Given the description of an element on the screen output the (x, y) to click on. 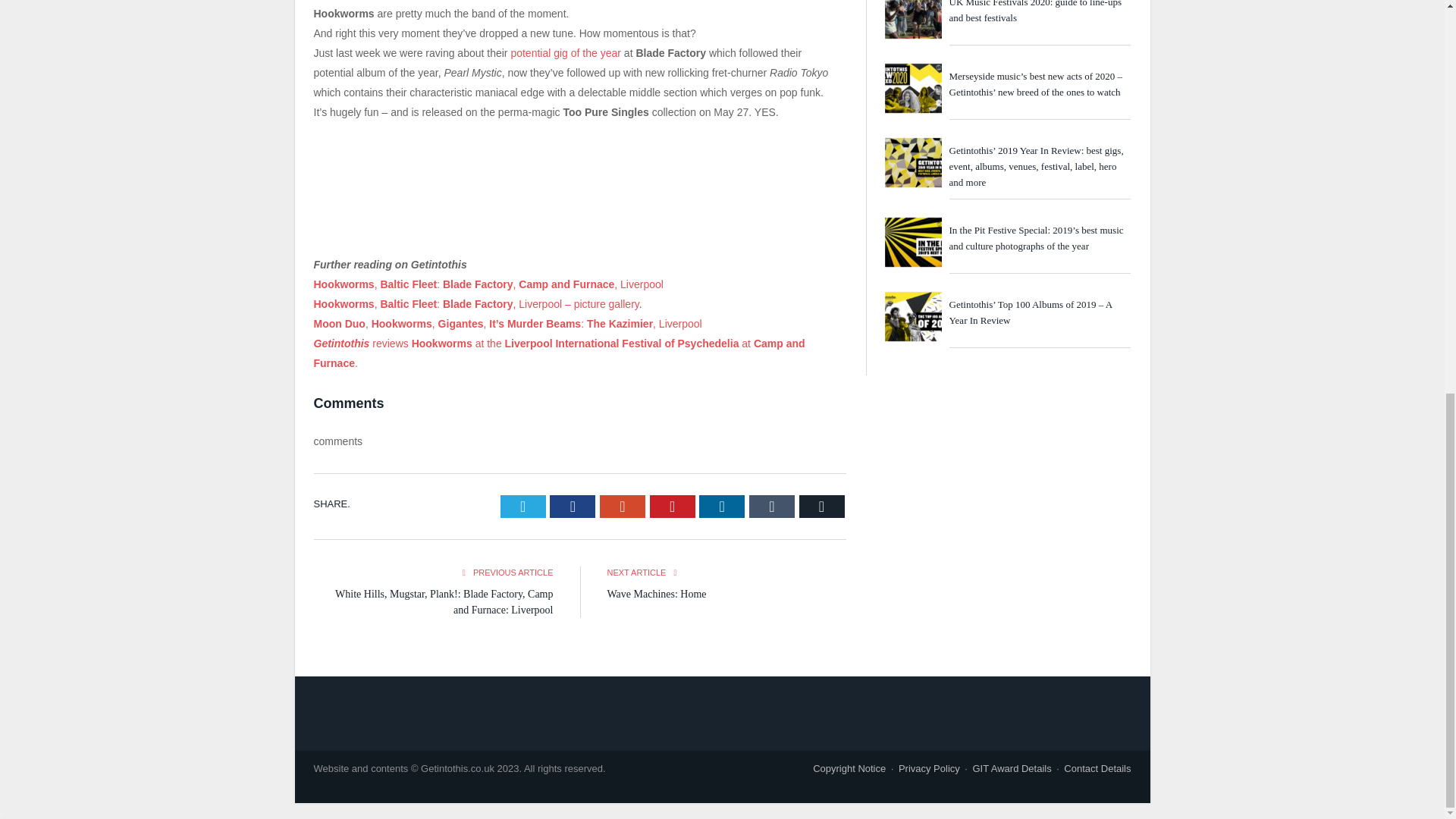
Twitter (523, 506)
Tumblr (771, 506)
Pinterest (672, 506)
Wave Machines: Home (656, 593)
potential gig of the year (566, 52)
Facebook (572, 506)
LinkedIn (721, 506)
Email (821, 506)
